Given the description of an element on the screen output the (x, y) to click on. 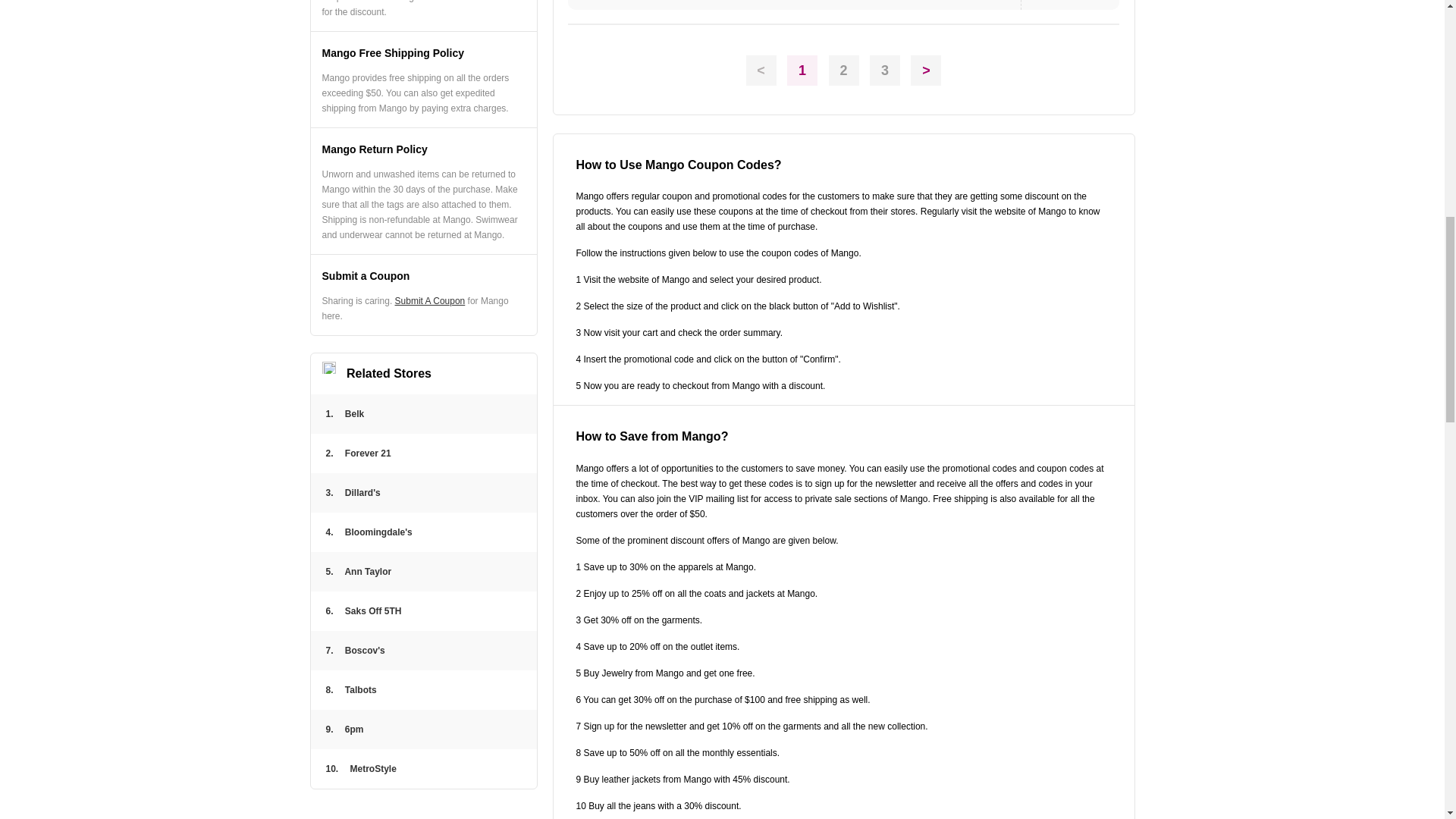
4. Bloomingdale's (423, 532)
1. Belk (423, 413)
10. MetroStyle (423, 768)
3. Dillard's (423, 492)
8. Talbots (423, 690)
9. 6pm (423, 729)
5. Ann Taylor (423, 571)
Submit A Coupon (429, 300)
6. Saks Off 5TH (423, 610)
7. Boscov's (423, 650)
